Given the description of an element on the screen output the (x, y) to click on. 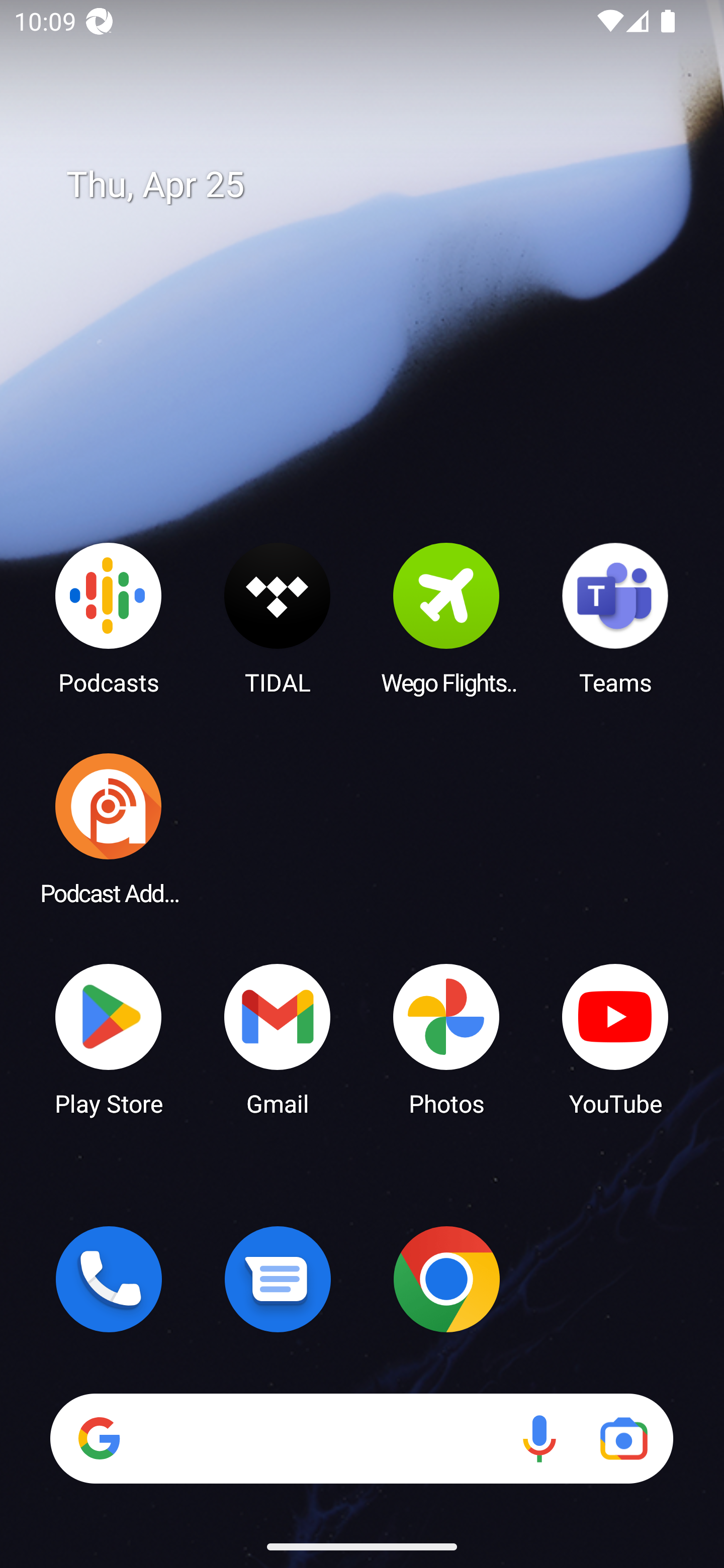
Thu, Apr 25 (375, 184)
Podcasts (108, 617)
TIDAL (277, 617)
Wego Flights & Hotels (445, 617)
Teams (615, 617)
Podcast Addict (108, 828)
Play Store (108, 1038)
Gmail (277, 1038)
Photos (445, 1038)
YouTube (615, 1038)
Phone (108, 1279)
Messages (277, 1279)
Chrome (446, 1279)
Search Voice search Google Lens (361, 1438)
Voice search (539, 1438)
Google Lens (623, 1438)
